Given the description of an element on the screen output the (x, y) to click on. 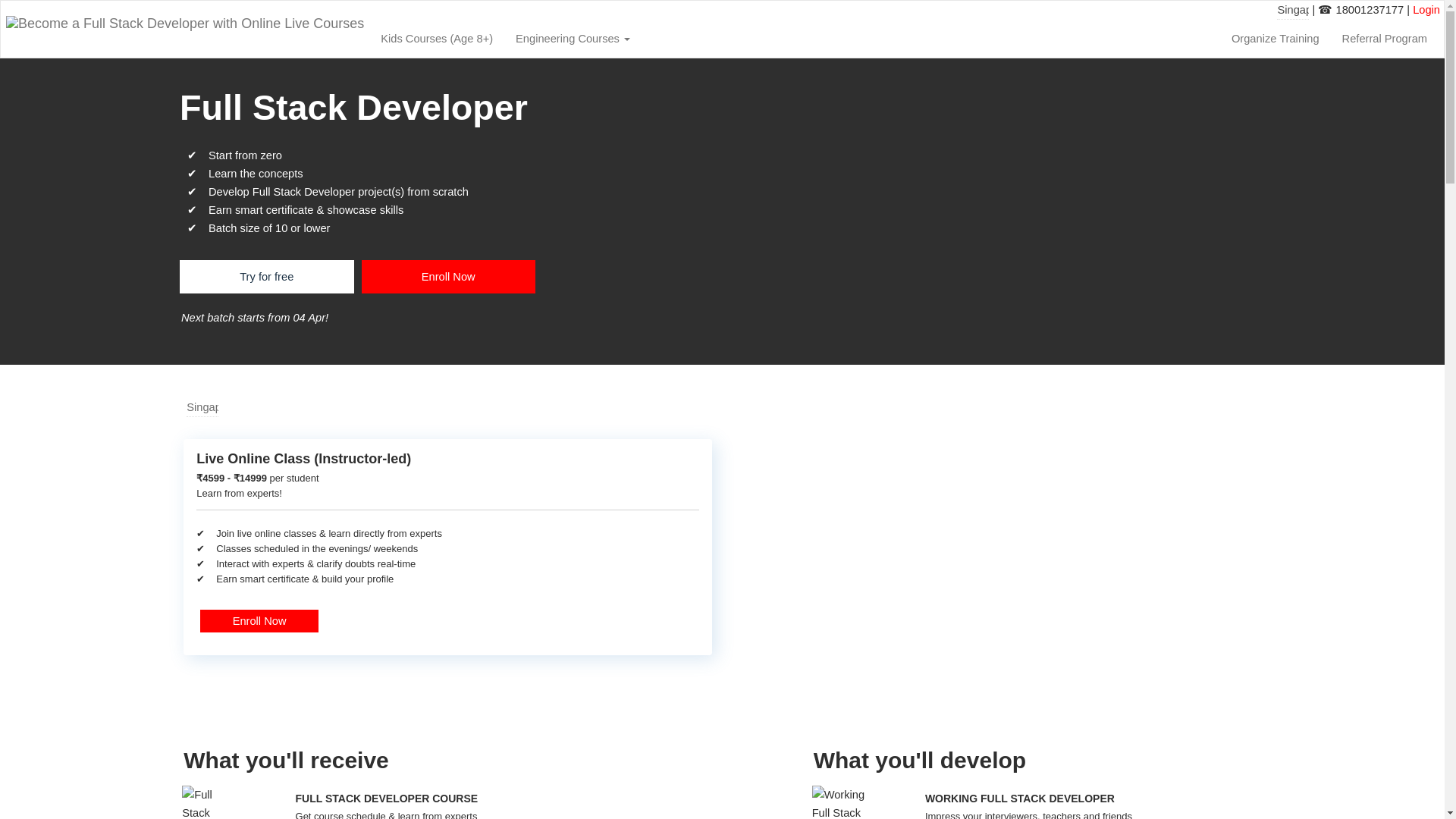
Login (1425, 9)
Referral Program (1384, 38)
Engineering Courses (572, 38)
Organize Training (1275, 38)
Try for free (266, 276)
Enroll Now (448, 276)
